Given the description of an element on the screen output the (x, y) to click on. 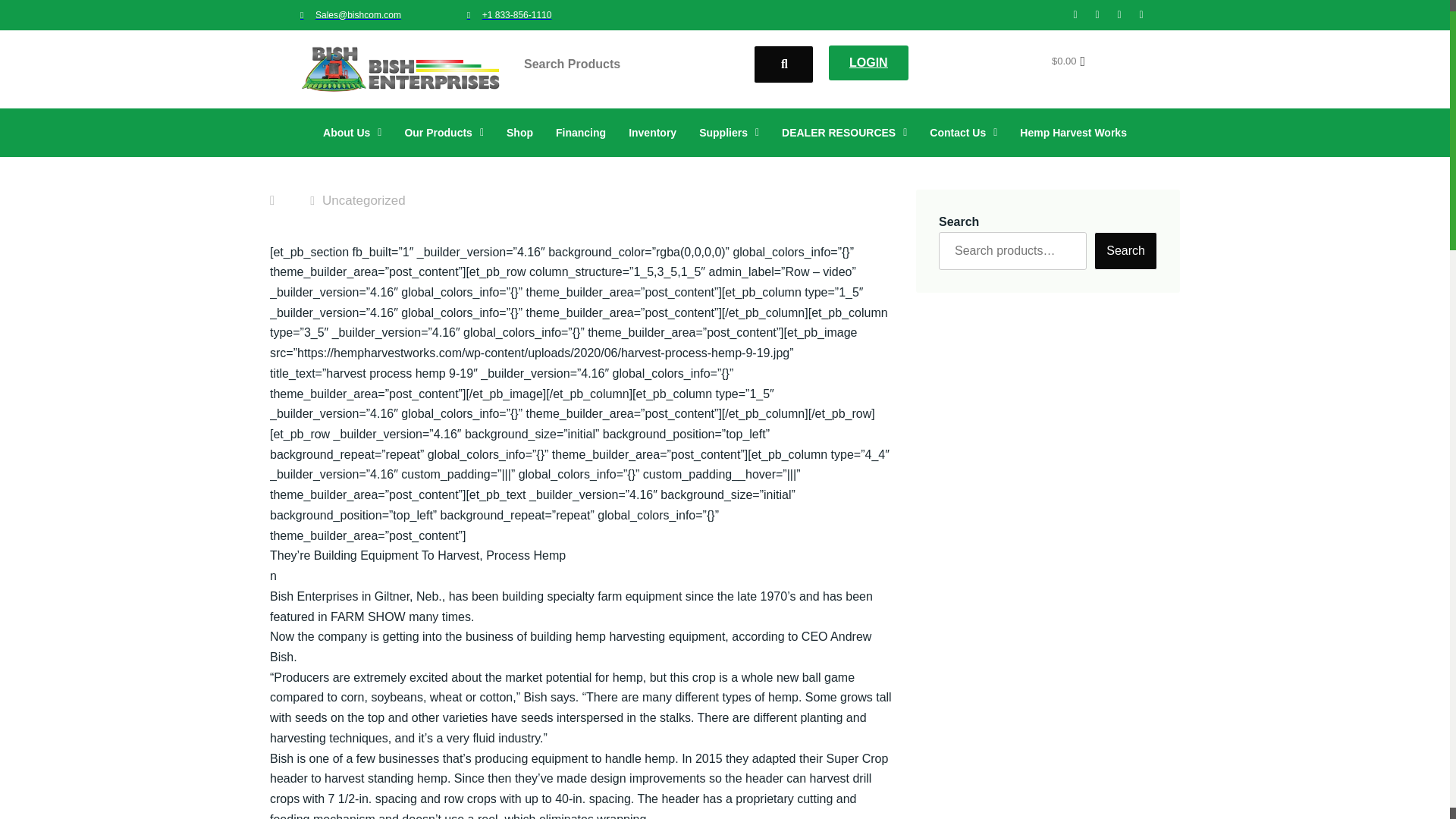
Search (635, 64)
Our Products (444, 132)
LOGIN (868, 62)
About Us (352, 132)
